Given the description of an element on the screen output the (x, y) to click on. 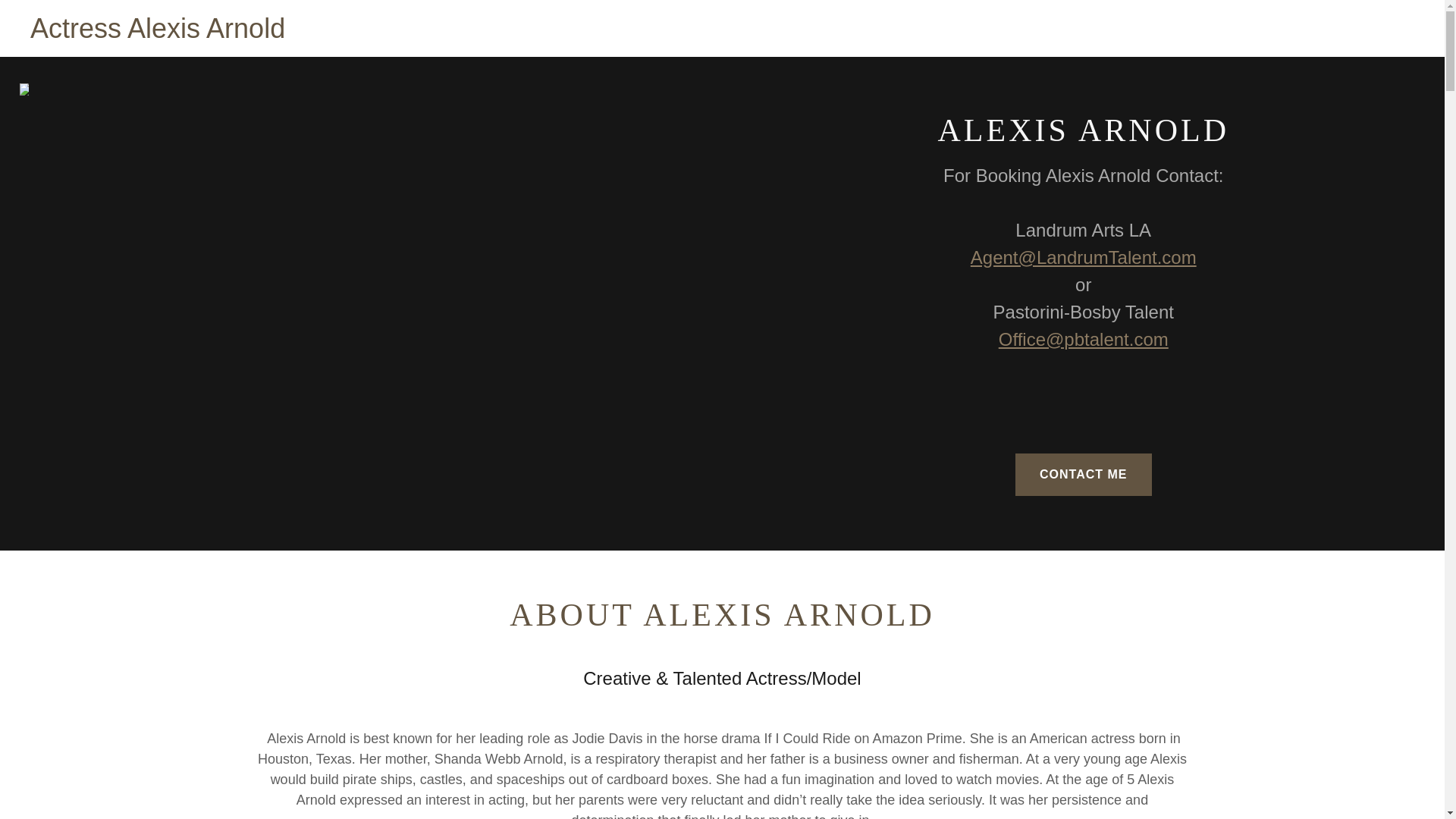
Actress Alexis Arnold (157, 32)
Actress Alexis Arnold (157, 32)
CONTACT ME (1082, 474)
